Given the description of an element on the screen output the (x, y) to click on. 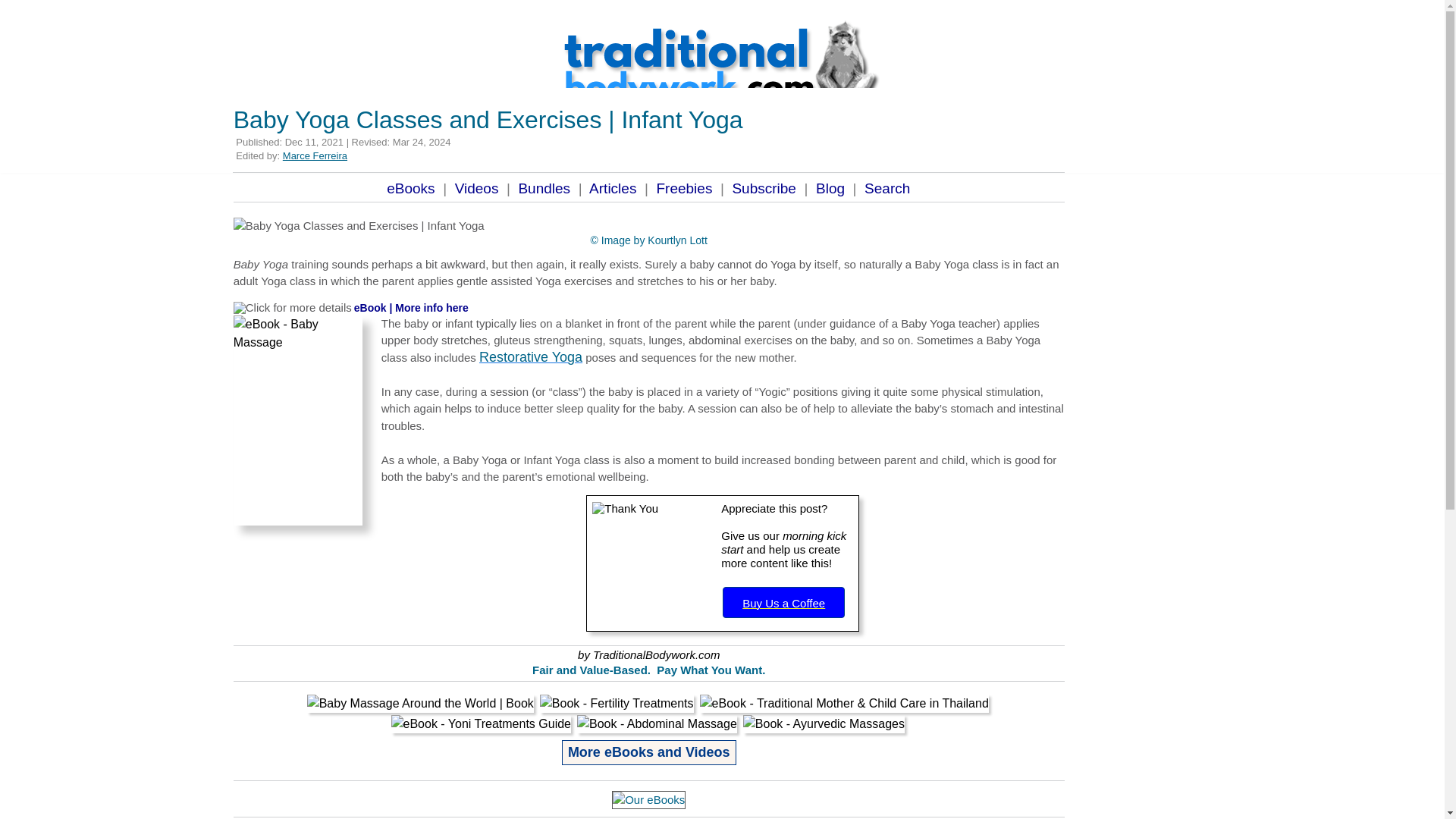
Book - Abdominal Massage (656, 723)
  Subscribe   (764, 188)
Book - Traditional Midwifery in Thailand (844, 703)
  Search (884, 188)
More eBooks and Videos (649, 751)
Click for more details (292, 308)
  Blog   (829, 188)
Marce Ferreira (314, 155)
Restorative Yoga (530, 356)
  Articles   (613, 188)
Buy Us a Coffee (783, 602)
  Bundles   (544, 188)
  Freebies   (683, 188)
Thank You (652, 562)
